Given the description of an element on the screen output the (x, y) to click on. 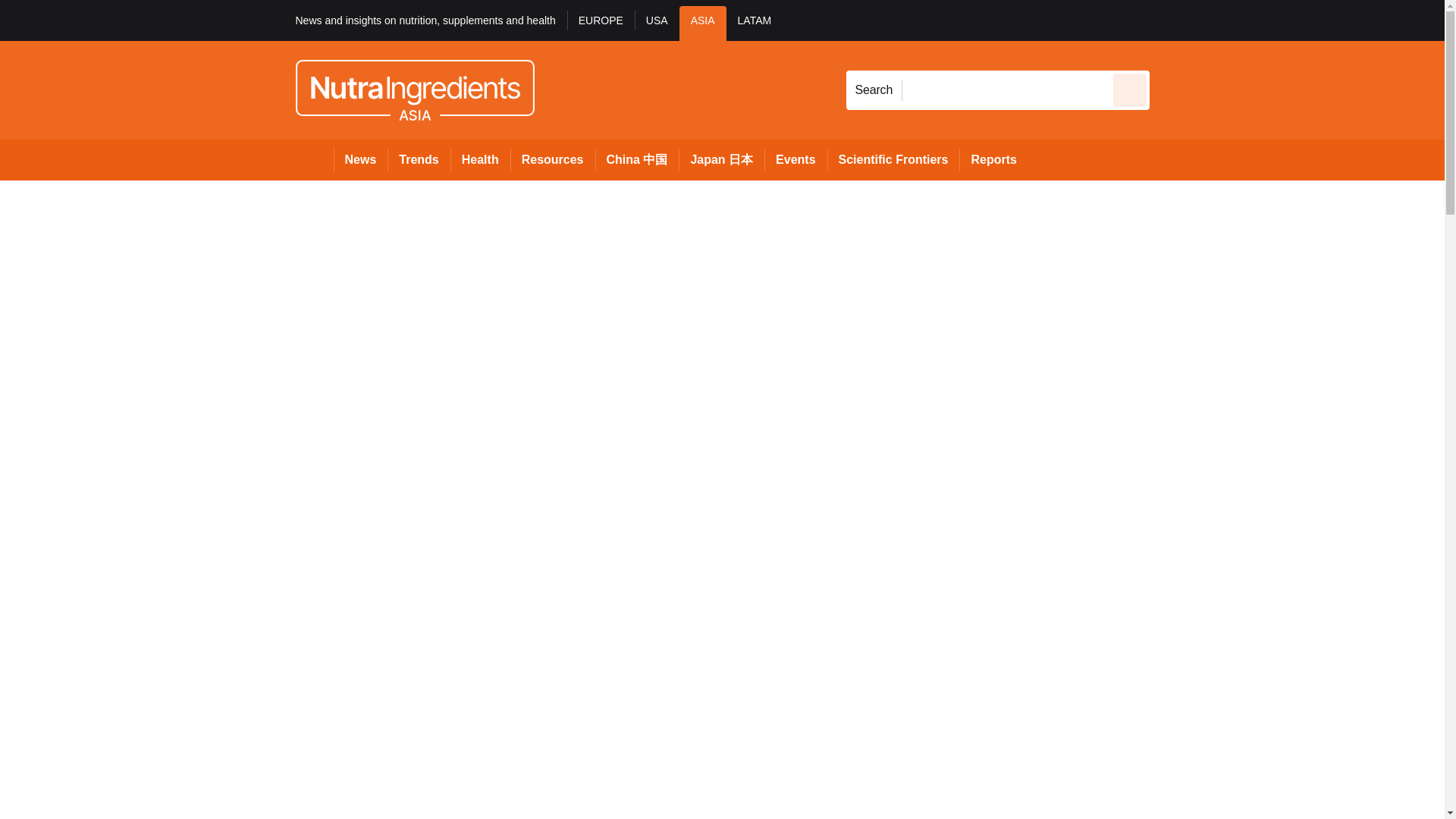
LATAM (754, 22)
SUBSCRIBE (1362, 20)
Home (313, 159)
EUROPE (600, 22)
Send (1129, 90)
USA (656, 22)
Trends (418, 159)
Register (1231, 20)
Home (314, 159)
ASIA (702, 22)
